Given the description of an element on the screen output the (x, y) to click on. 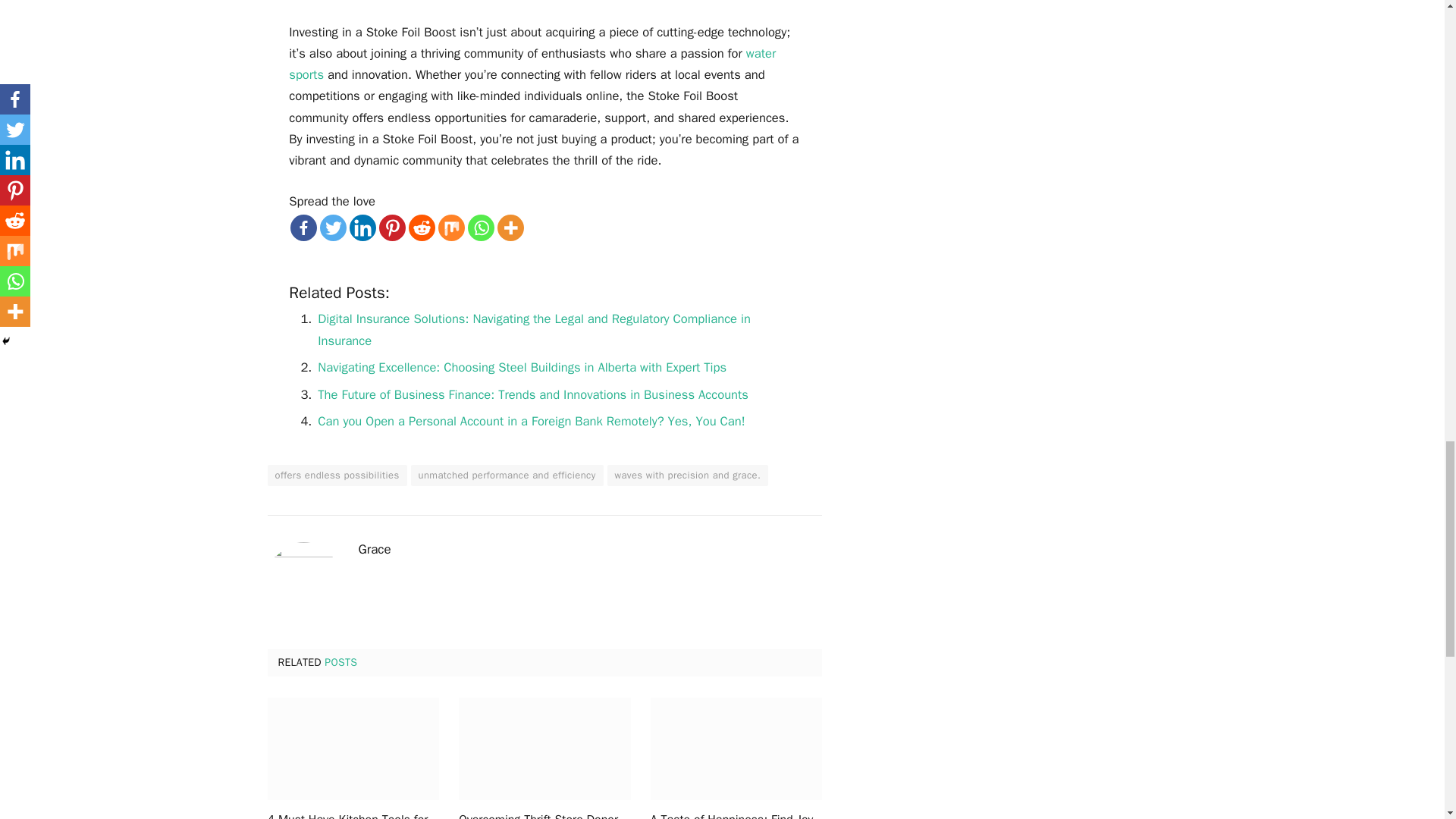
Linkedin (362, 227)
Facebook (303, 227)
Pinterest (392, 227)
Twitter (333, 227)
